Given the description of an element on the screen output the (x, y) to click on. 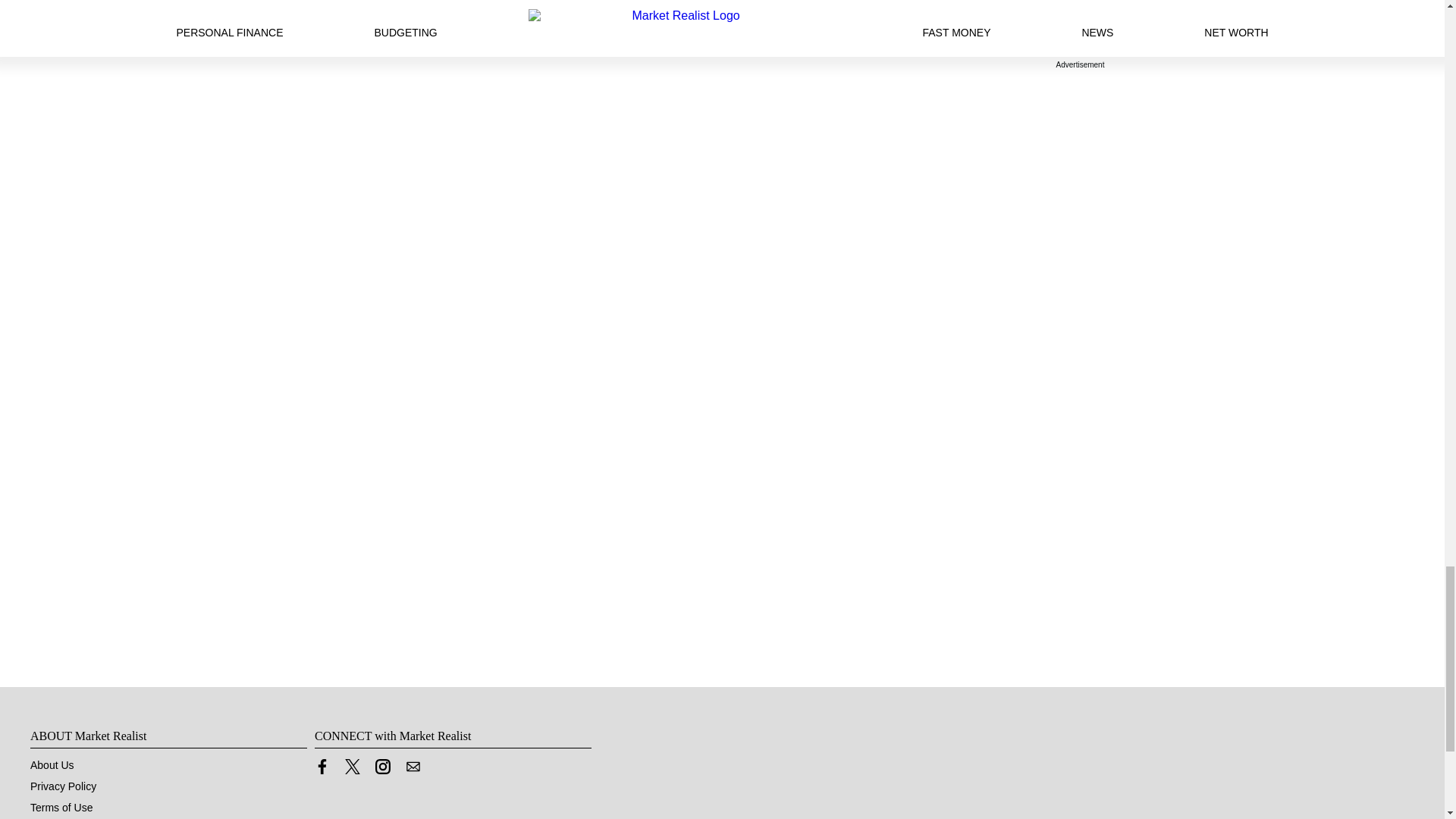
Link to X (352, 770)
Link to Instagram (382, 770)
Terms of Use (61, 807)
Privacy Policy (63, 786)
Contact us by Email (413, 770)
Link to Facebook (322, 766)
About Us (52, 765)
About Us (52, 765)
Link to X (352, 766)
Terms of Use (61, 807)
Link to Facebook (322, 770)
Contact us by Email (413, 766)
Link to Instagram (382, 766)
Privacy Policy (63, 786)
